Given the description of an element on the screen output the (x, y) to click on. 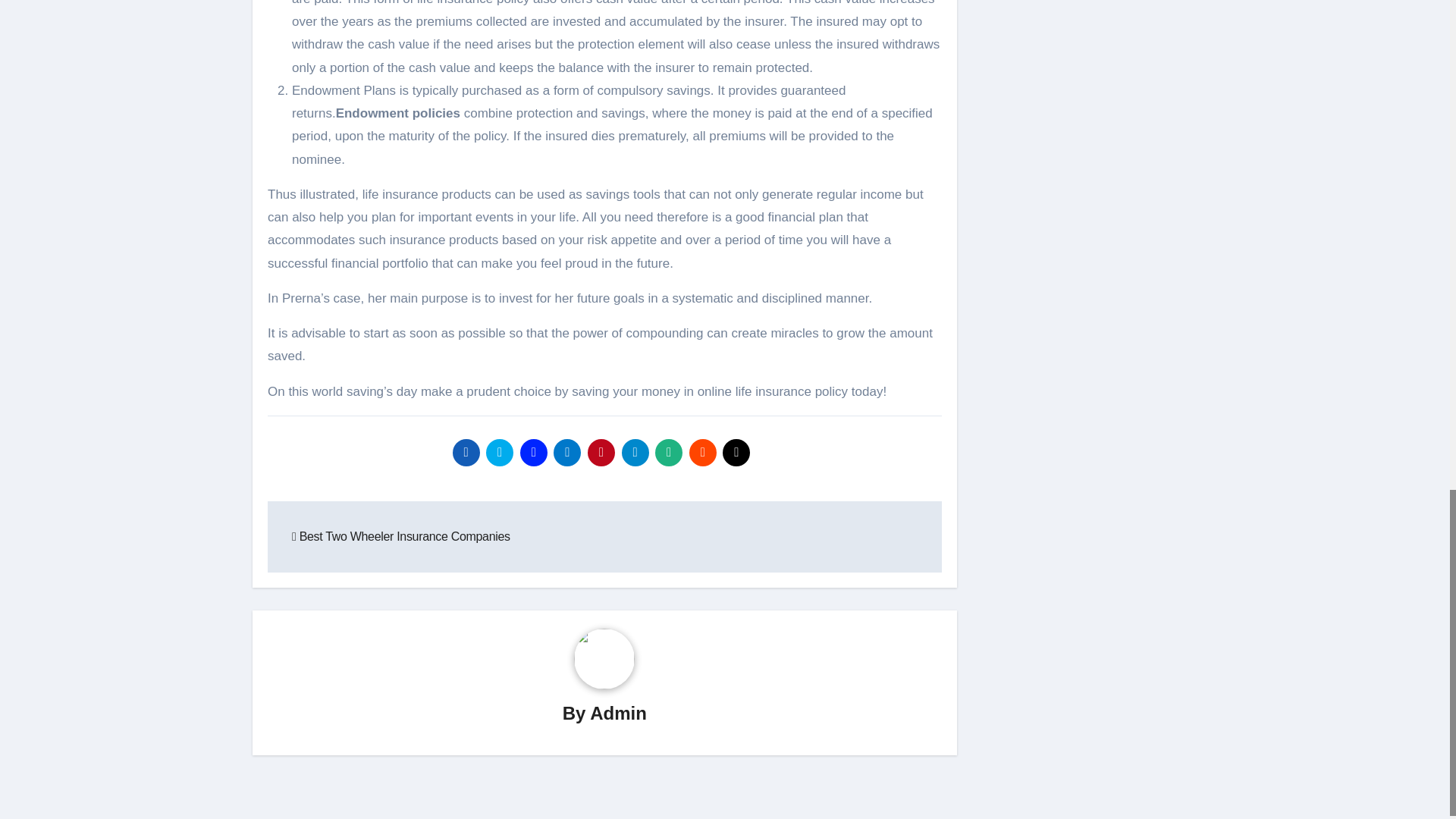
Admin (617, 712)
Best Two Wheeler Insurance Companies (401, 535)
